Given the description of an element on the screen output the (x, y) to click on. 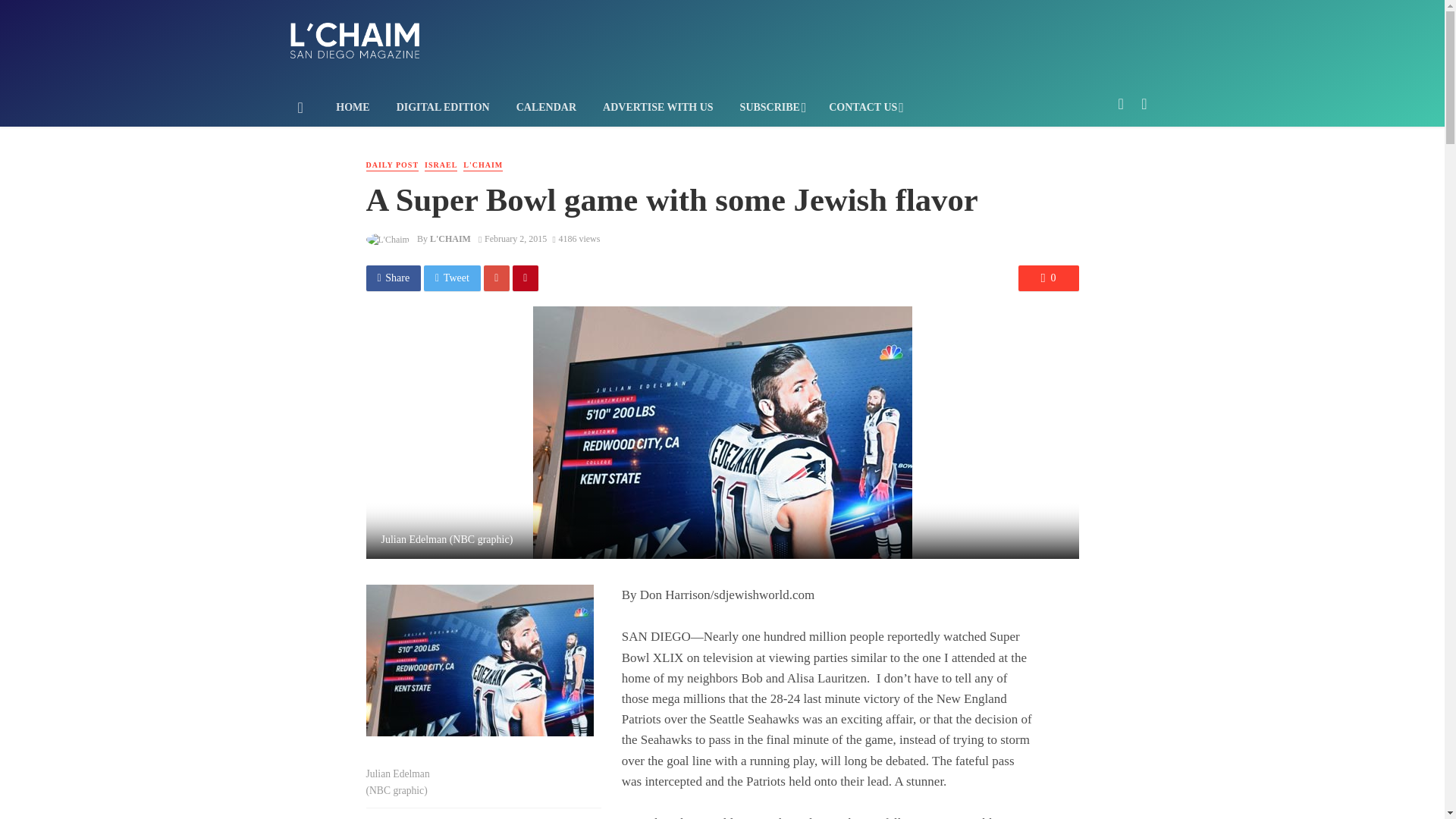
Share on Twitter (451, 278)
CONTACT US (863, 107)
HOME (352, 107)
0 (1047, 278)
Share (392, 278)
Share on Pinterest (525, 278)
L'CHAIM (482, 165)
DAILY POST (392, 165)
DIGITAL EDITION (442, 107)
L'CHAIM (449, 238)
